Given the description of an element on the screen output the (x, y) to click on. 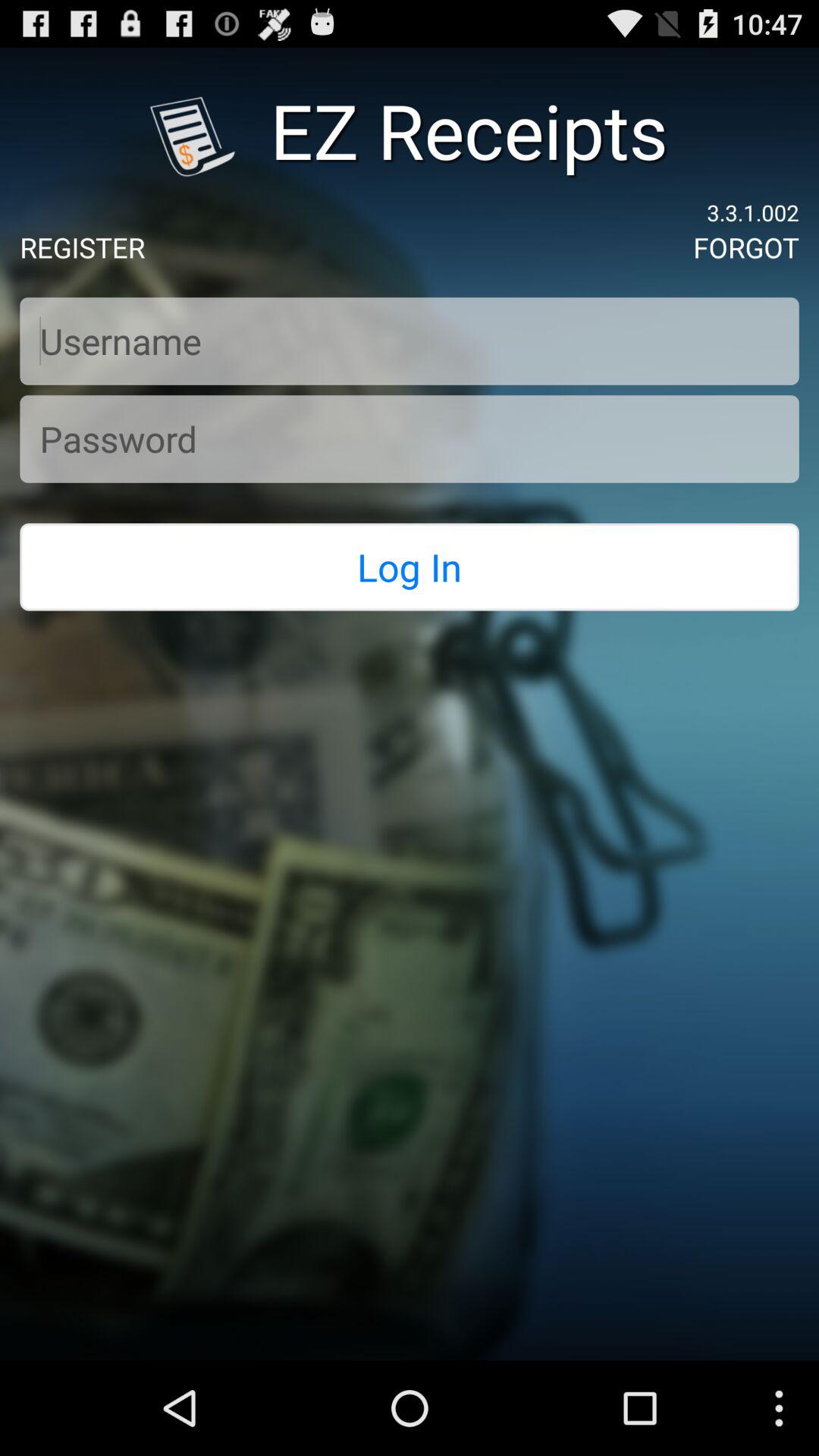
press register icon (82, 247)
